Given the description of an element on the screen output the (x, y) to click on. 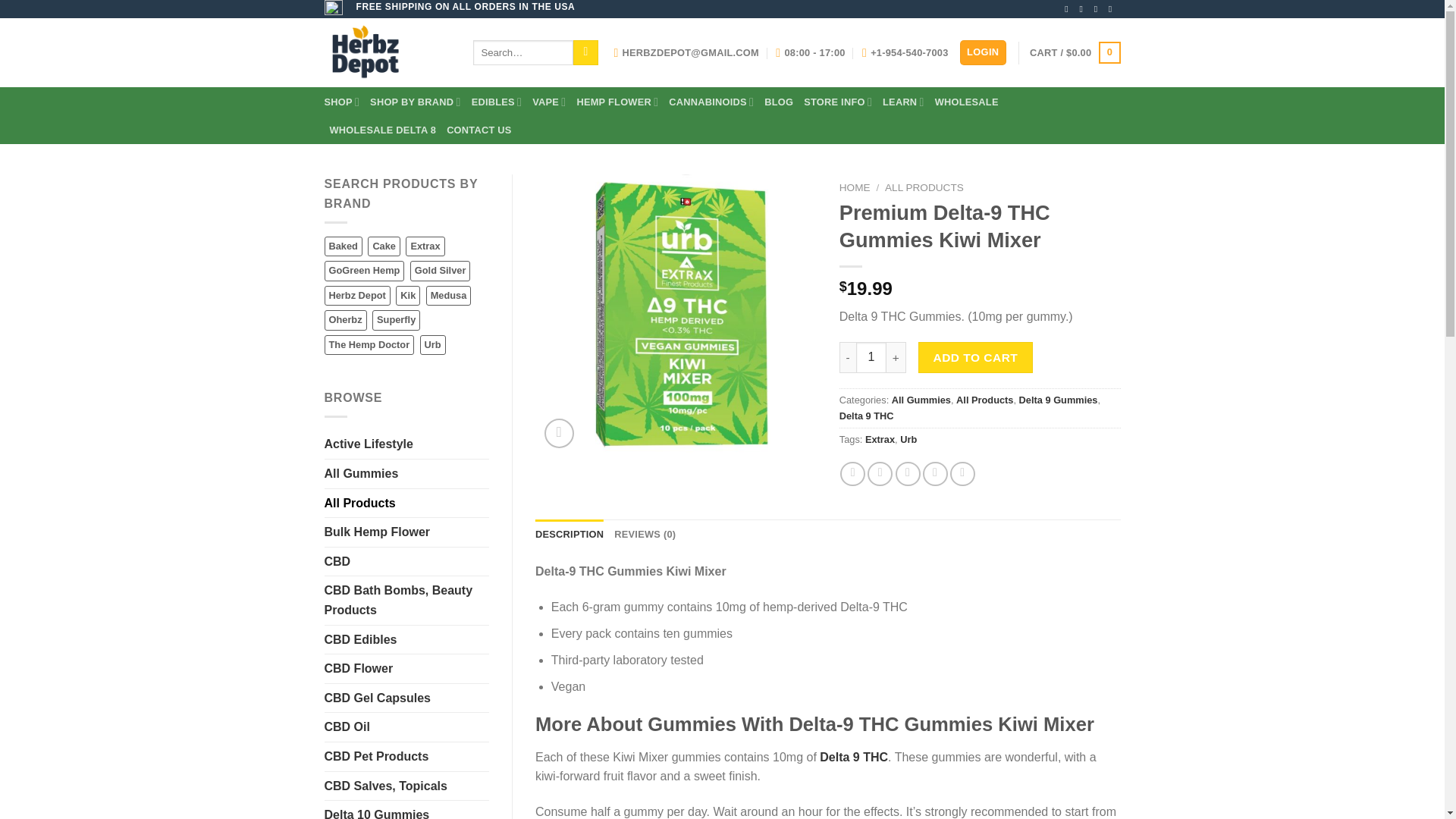
SHOP BY BRAND (415, 101)
08:00 - 17:00 (810, 52)
08:00 - 17:00  (810, 52)
LOGIN (982, 52)
1 (871, 357)
Cart (1074, 52)
Search (585, 53)
Login (982, 52)
SHOP (341, 101)
Zoom (558, 432)
